Given the description of an element on the screen output the (x, y) to click on. 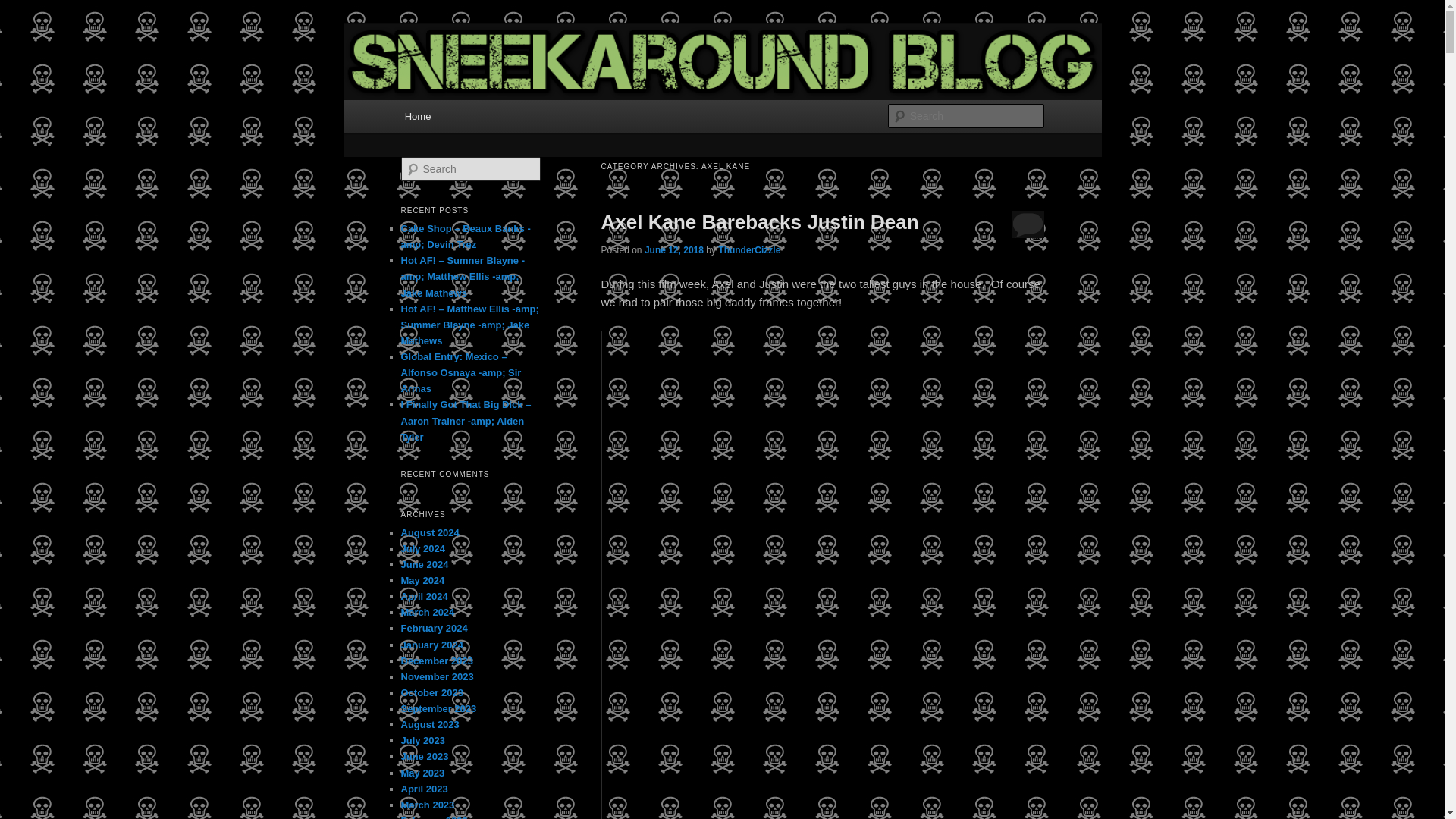
Skip to secondary content (479, 118)
View all posts by ThunderCizzle (748, 249)
ThunderCizzle (748, 249)
June 12, 2018 (674, 249)
Skip to primary content (472, 118)
10:39 am (674, 249)
Search (24, 8)
Axel Kane Barebacks Justin Dean (758, 221)
Home (417, 115)
SneakAround (474, 78)
